Given the description of an element on the screen output the (x, y) to click on. 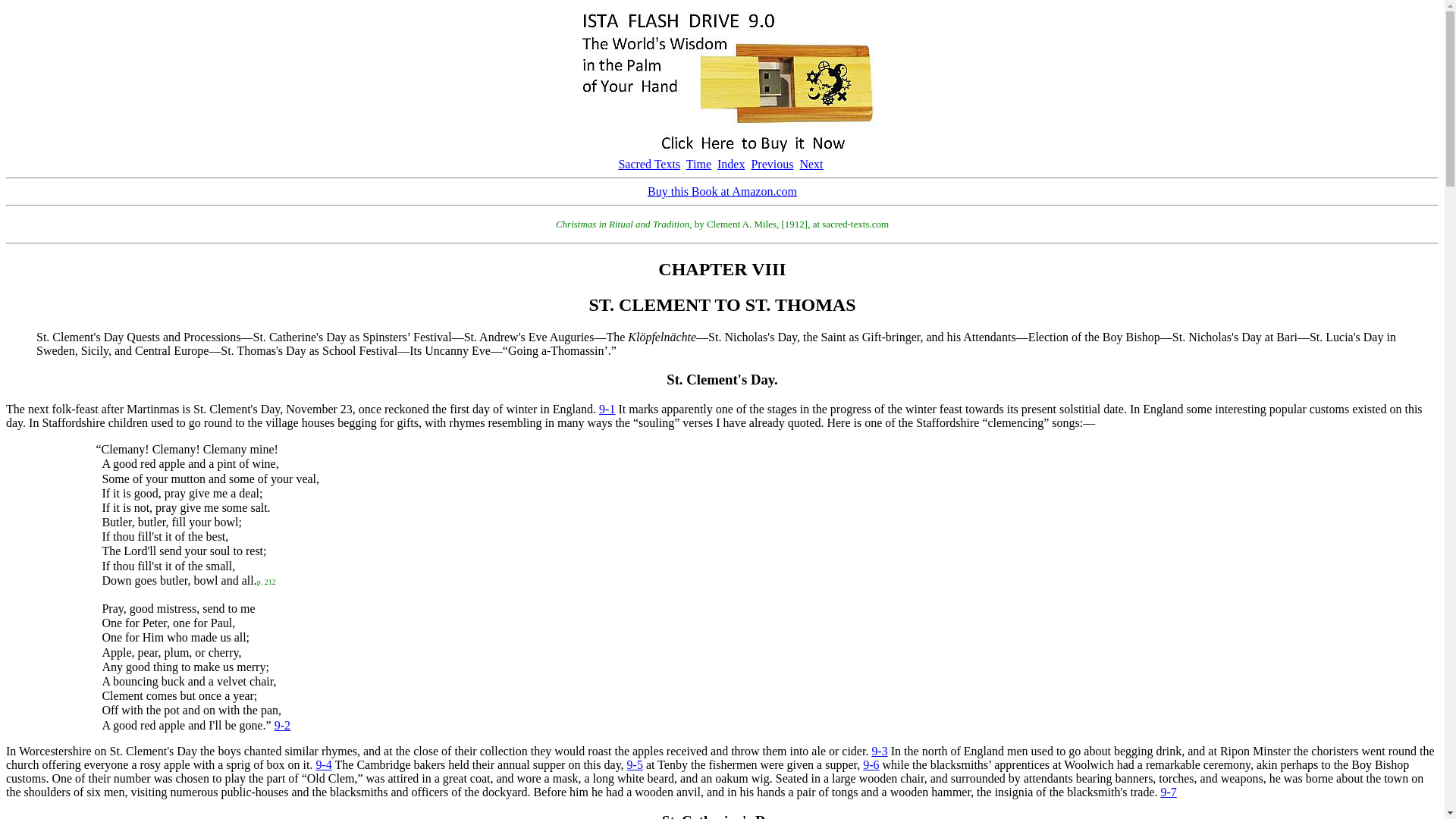
Next (810, 164)
9-2 (282, 725)
Previous (772, 164)
Buy this Book at Amazon.com (721, 191)
p. 212 (266, 580)
Index (730, 164)
9-5 (635, 764)
9-7 (1168, 791)
Time (698, 164)
9-6 (871, 764)
9-4 (323, 764)
9-3 (878, 750)
9-1 (606, 408)
Sacred Texts (648, 164)
